Given the description of an element on the screen output the (x, y) to click on. 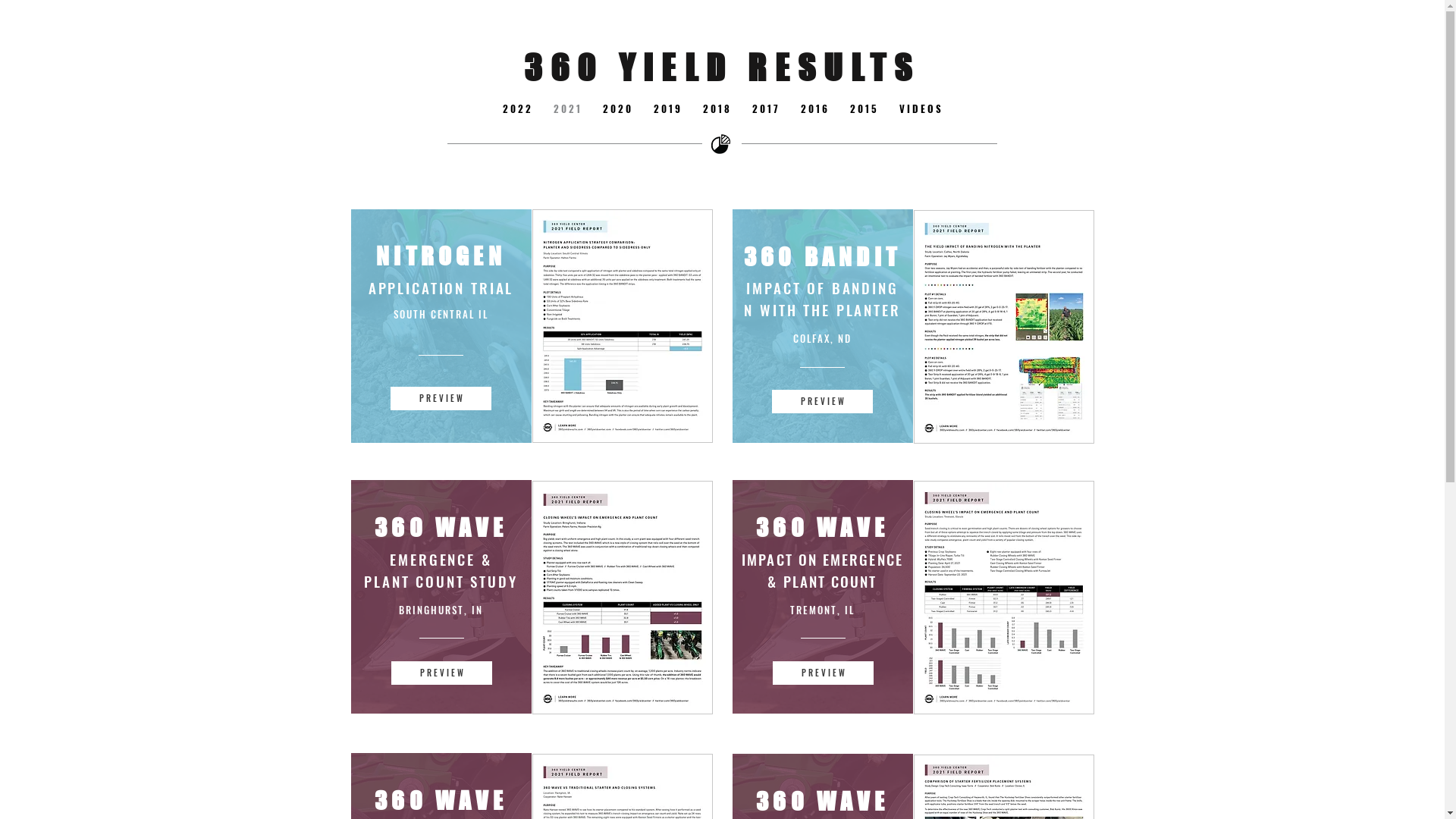
2 0 2 1 Element type: text (566, 108)
2 0 2 0 Element type: text (616, 108)
P R E V I E W Element type: text (439, 398)
2 0 1 8 Element type: text (715, 108)
P R E V I E W Element type: text (821, 401)
P R E V I E W Element type: text (821, 672)
V I D E O S Element type: text (920, 108)
2 0 2 2 Element type: text (516, 108)
2 0 1 9 Element type: text (666, 108)
2 0 1 6 Element type: text (813, 108)
P R E V I E W Element type: text (441, 672)
2 0 1 5 Element type: text (863, 108)
2 0 1 7 Element type: text (764, 108)
